Given the description of an element on the screen output the (x, y) to click on. 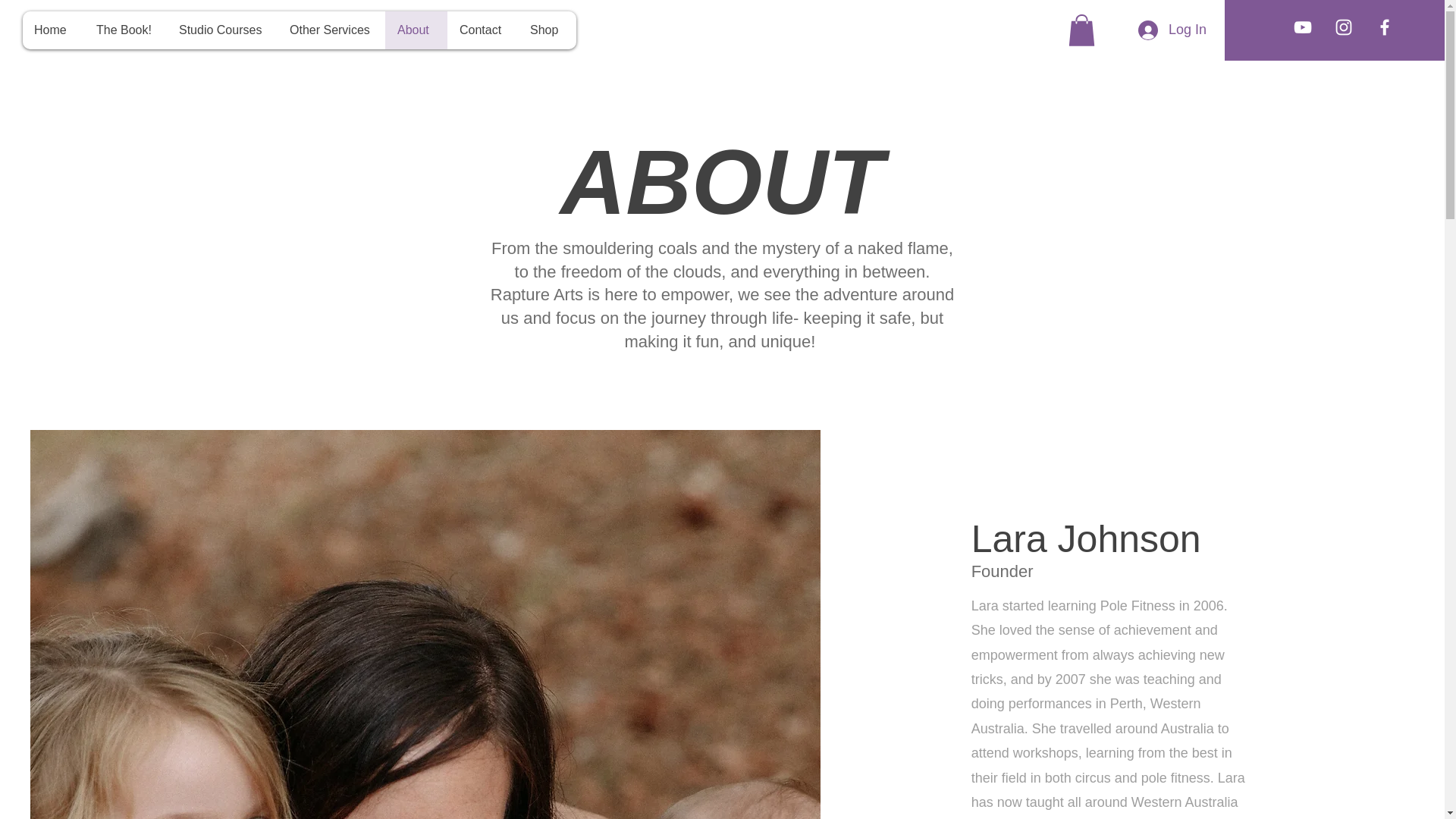
Home (53, 30)
Contact (482, 30)
Studio Courses (222, 30)
About (415, 30)
Shop (547, 30)
Log In (1171, 30)
The Book! (125, 30)
Other Services (331, 30)
